Given the description of an element on the screen output the (x, y) to click on. 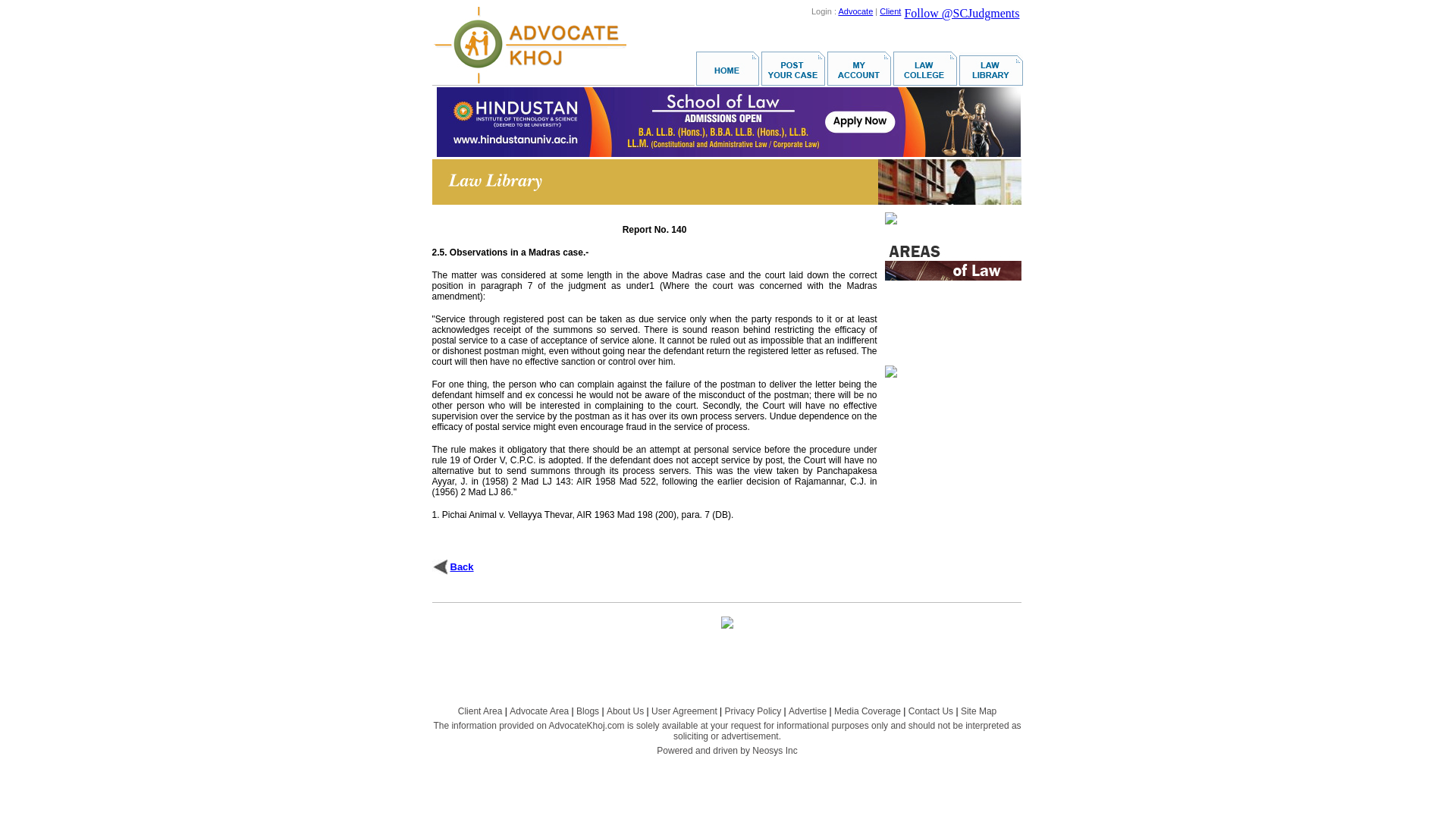
About Us (625, 710)
Advocate (855, 10)
Client Area (480, 710)
Advocate Area (539, 710)
Contact Us (930, 710)
Advertise (808, 710)
Client (890, 10)
Site Map (977, 710)
